Given the description of an element on the screen output the (x, y) to click on. 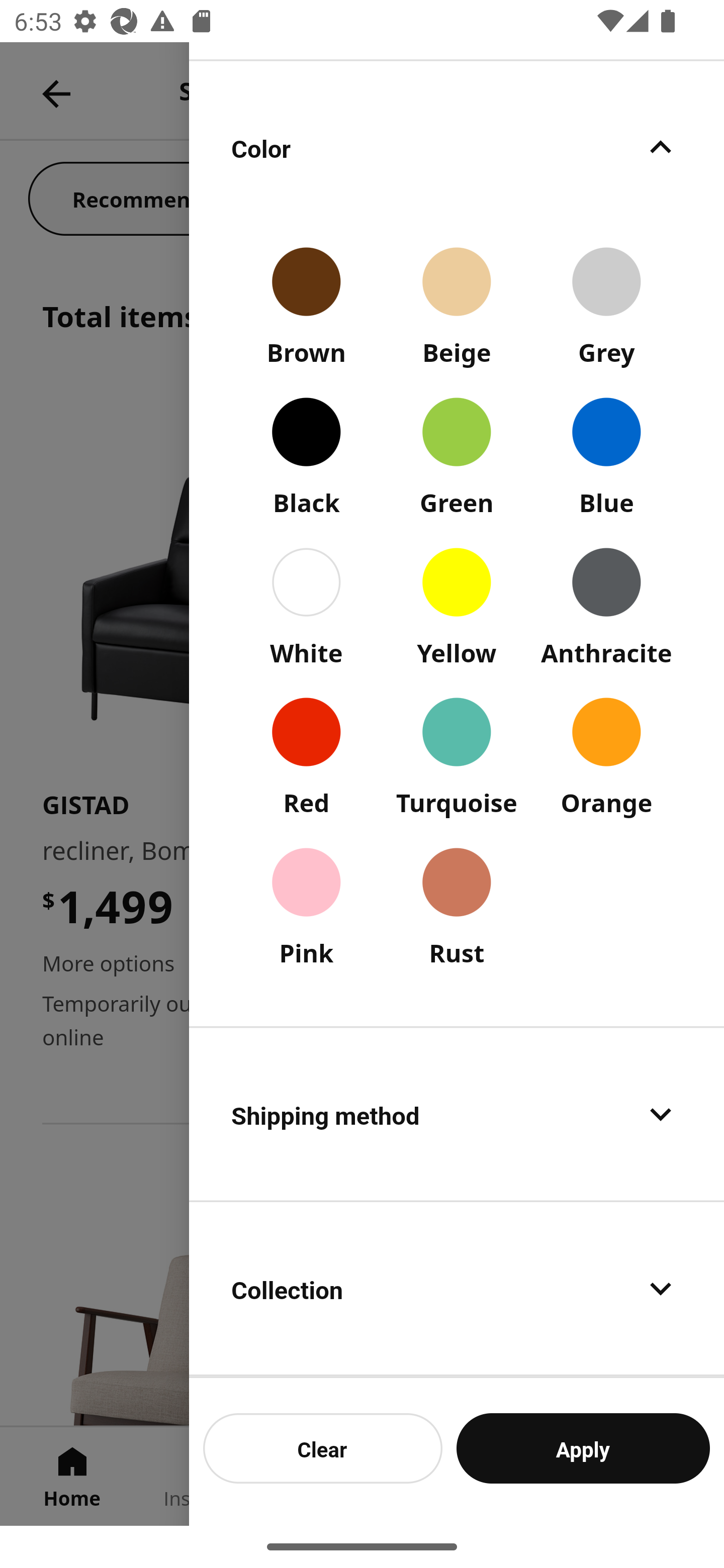
Color (456, 147)
Shipping method (456, 1113)
Collection (456, 1288)
Clear (322, 1447)
Apply (583, 1447)
